Given the description of an element on the screen output the (x, y) to click on. 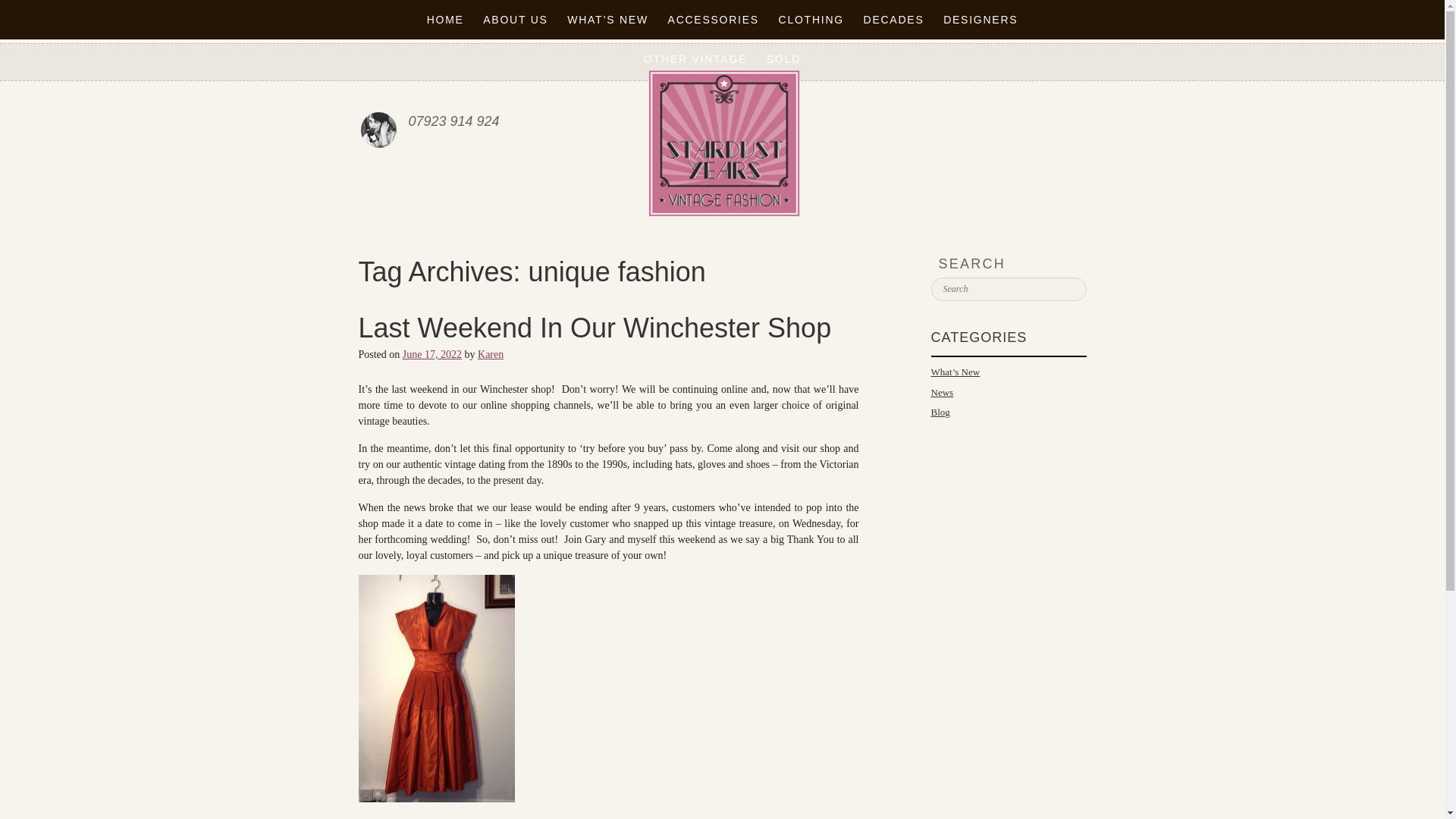
ABOUT US (515, 19)
Permalink to Last Weekend In Our Winchester Shop (594, 327)
HOME (445, 19)
ACCESSORIES (714, 19)
DECADES (893, 19)
Stardust Years (722, 142)
View all posts by Karen (490, 354)
CLOTHING (811, 19)
3:29 pm (432, 354)
